Given the description of an element on the screen output the (x, y) to click on. 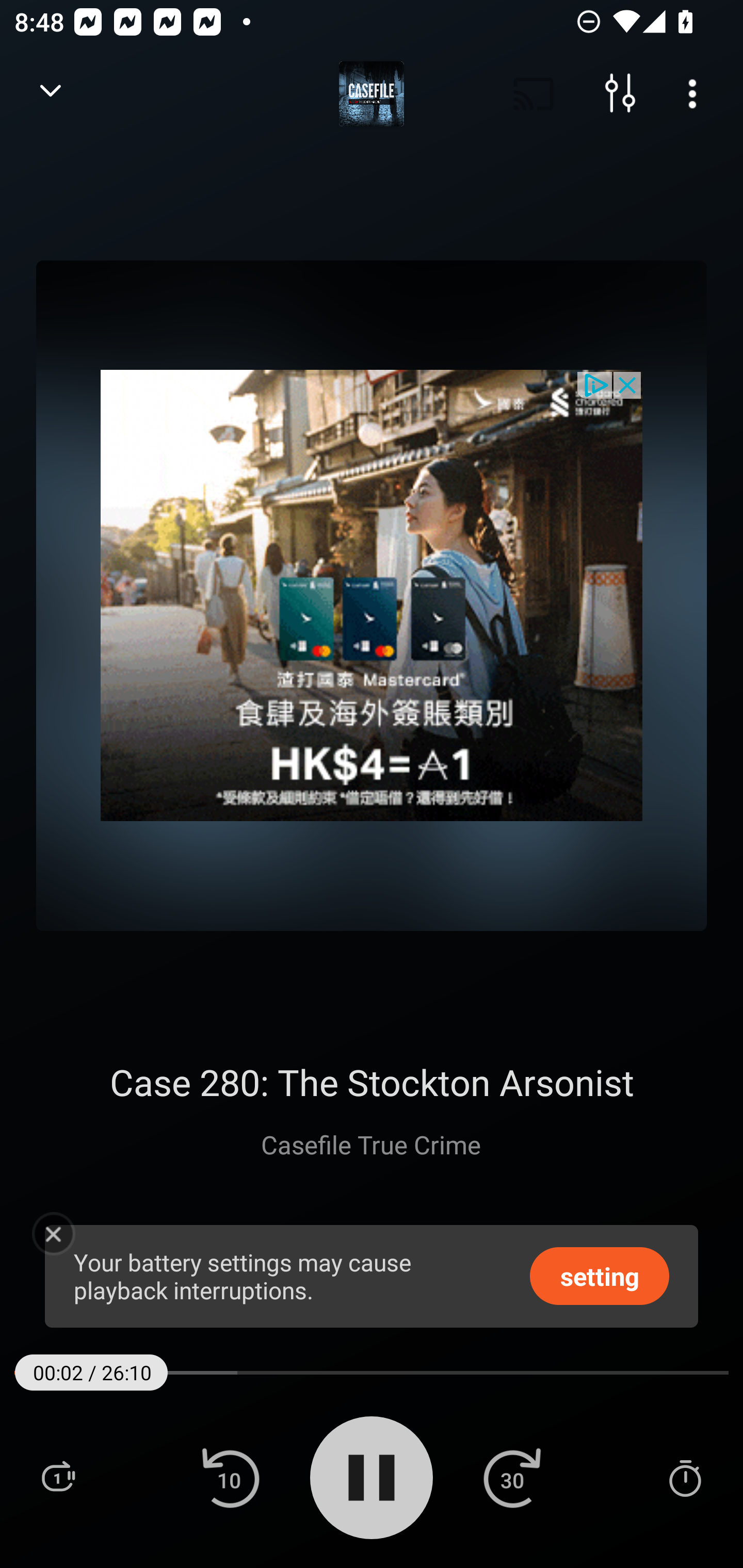
 Back (50, 94)
Case 280: The Stockton Arsonist (371, 1081)
Casefile True Crime (371, 1144)
setting (599, 1275)
 Playlist (57, 1477)
Sleep Timer  (684, 1477)
